Given the description of an element on the screen output the (x, y) to click on. 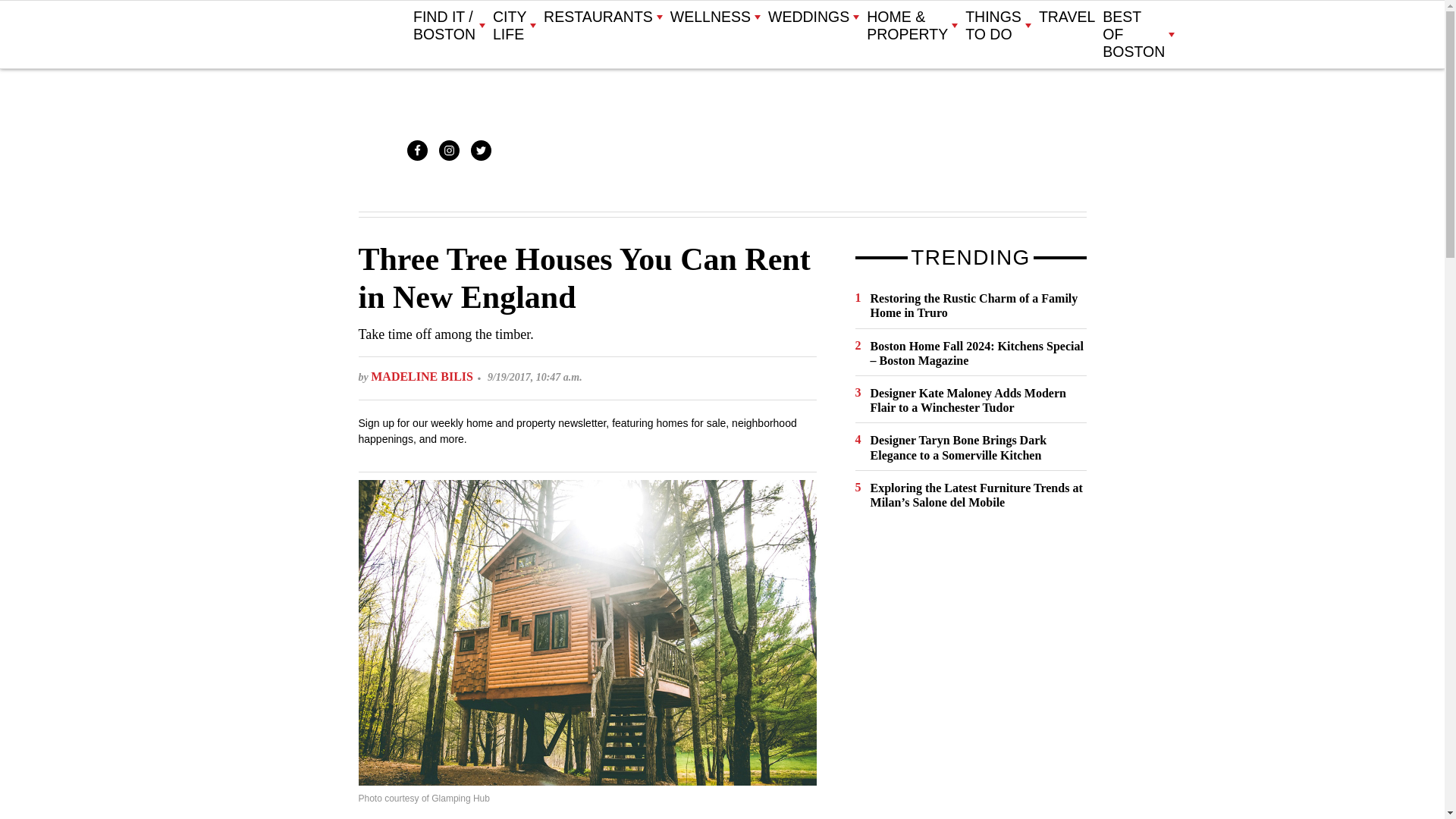
THINGS TO DO (997, 25)
RESTAURANTS (602, 16)
WELLNESS (714, 16)
WEDDINGS (813, 16)
